Given the description of an element on the screen output the (x, y) to click on. 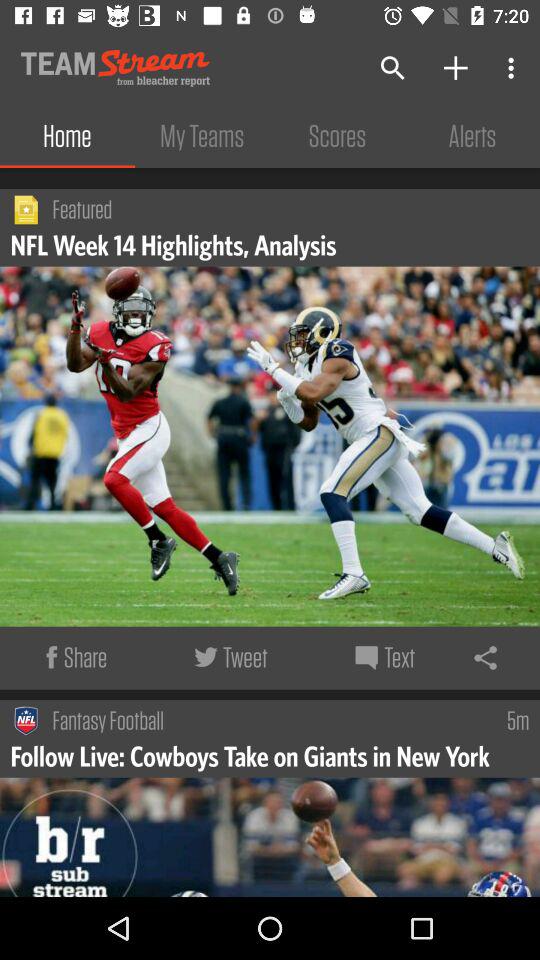
press the item above the alerts item (513, 67)
